Given the description of an element on the screen output the (x, y) to click on. 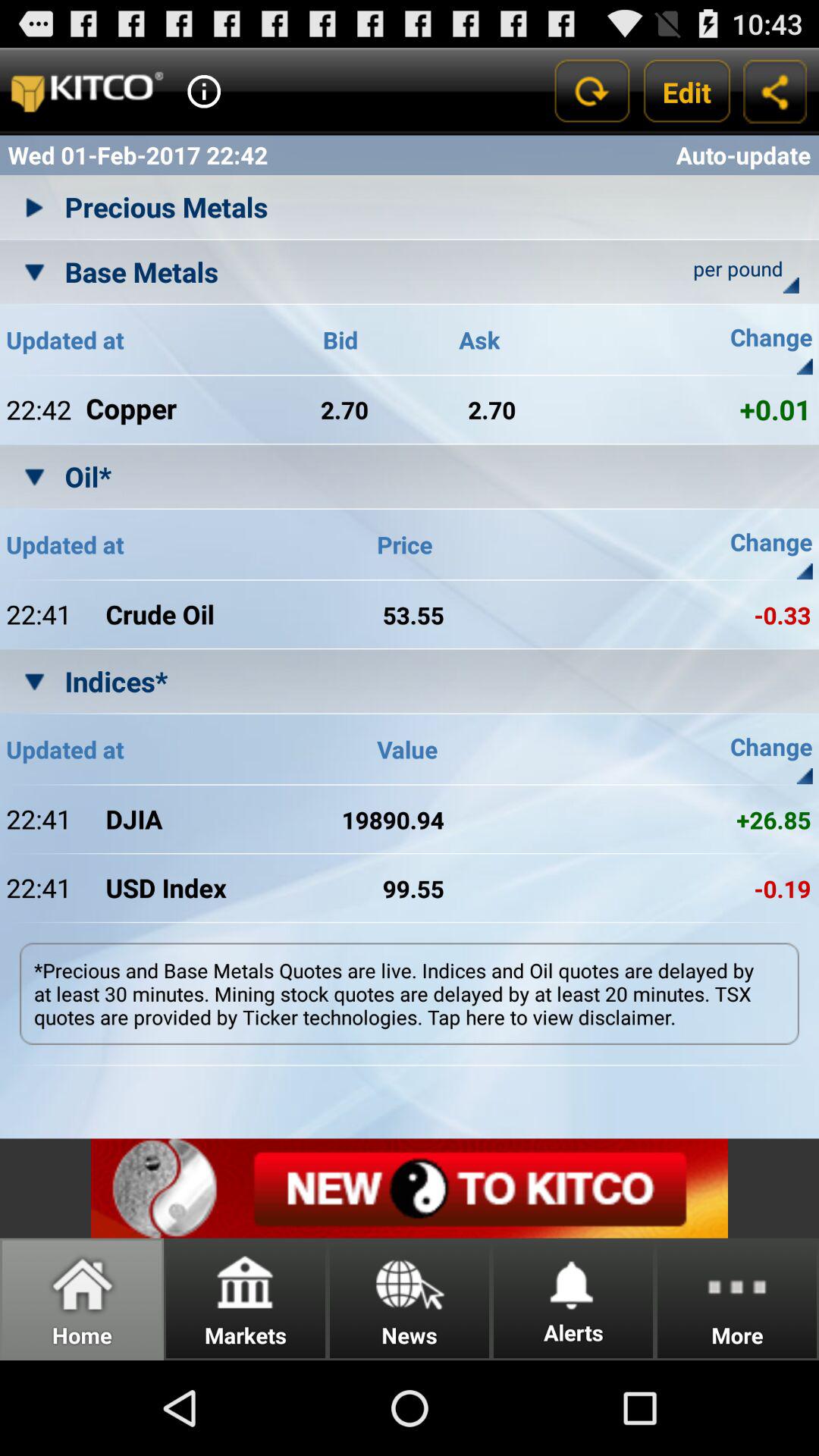
advertisement (409, 1188)
